Given the description of an element on the screen output the (x, y) to click on. 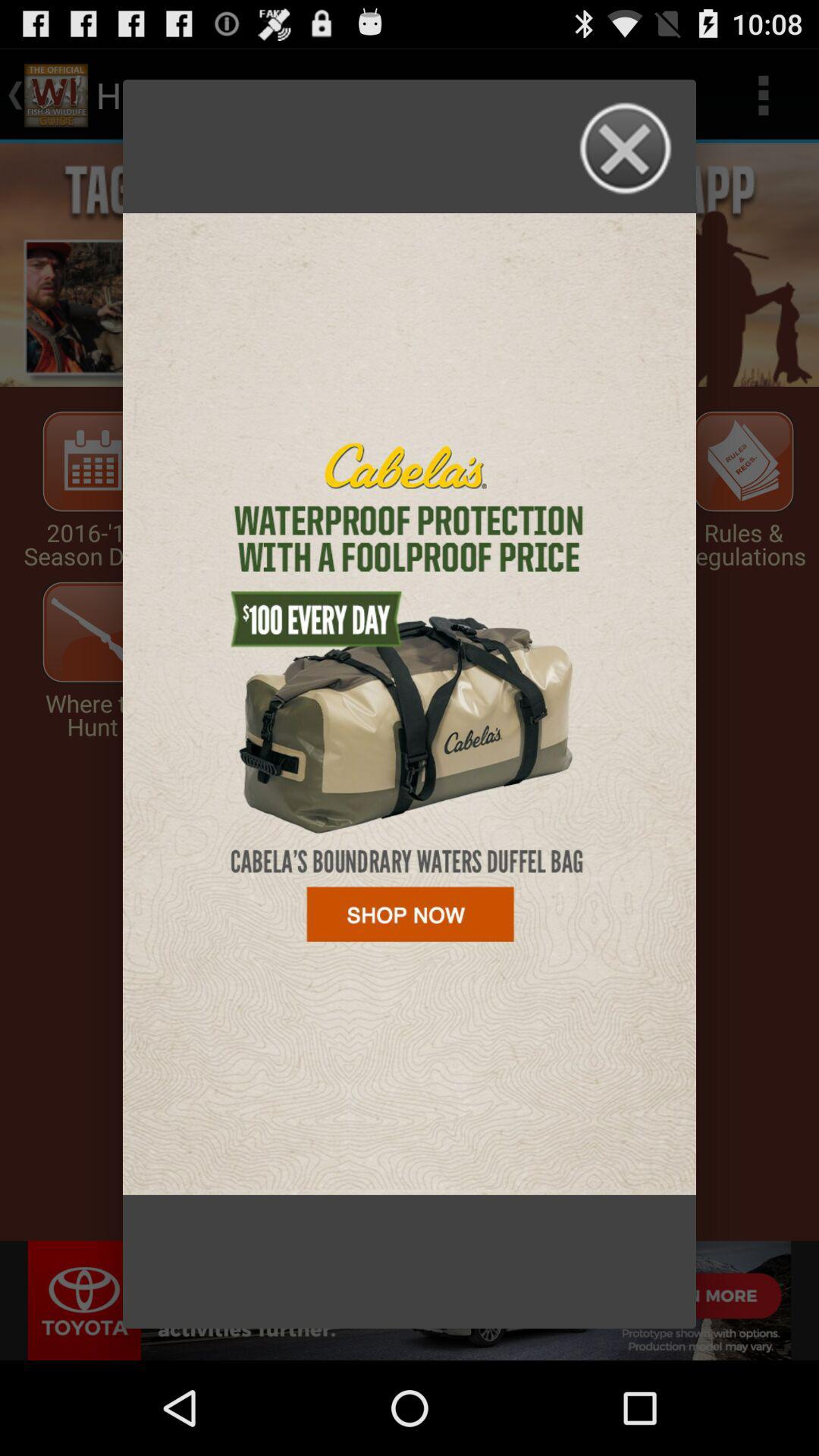
x (626, 149)
